Given the description of an element on the screen output the (x, y) to click on. 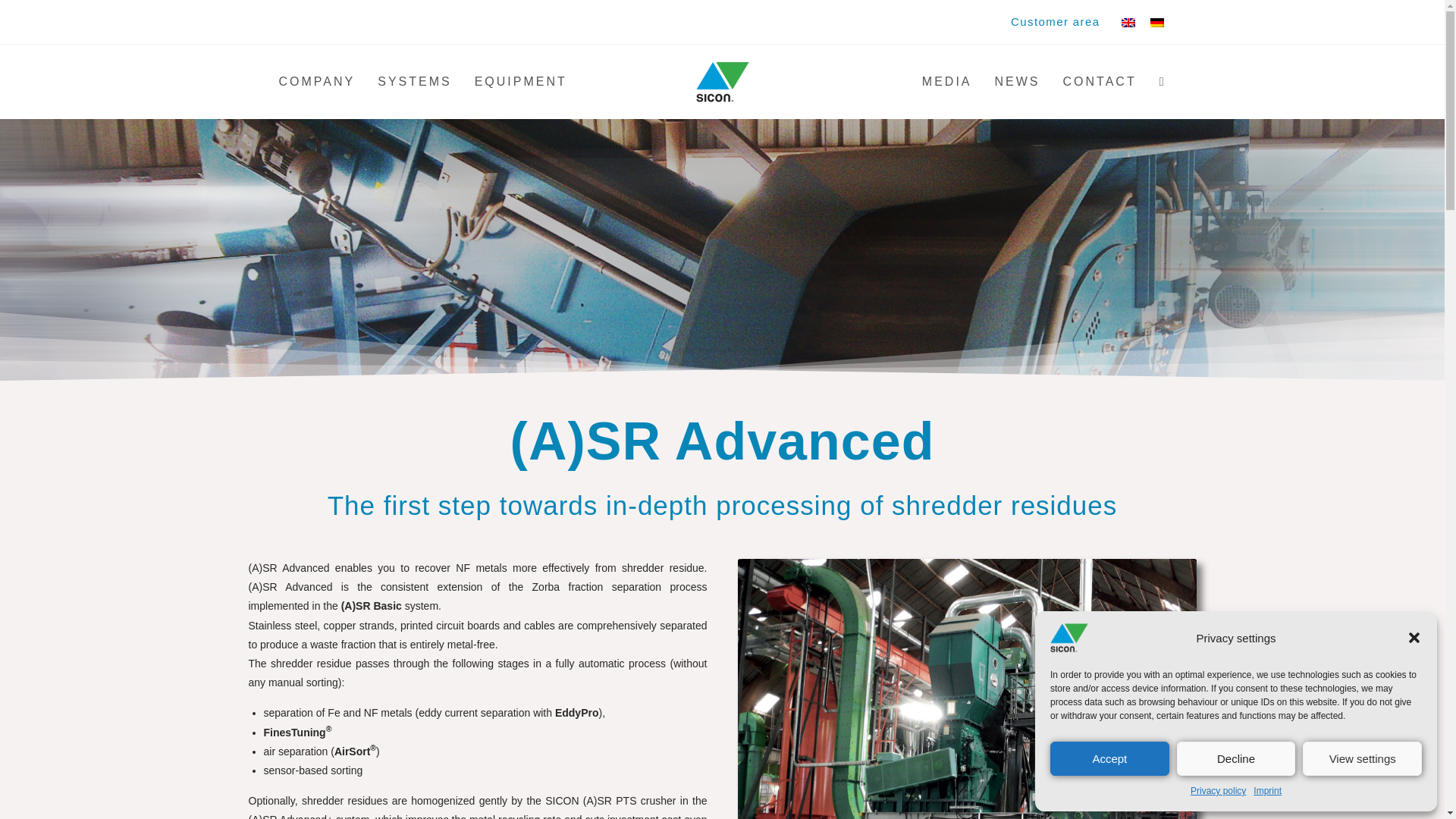
COMPANY (316, 81)
Imprint (1267, 791)
Customer area (1054, 22)
Accept (1109, 758)
Privacy policy (1218, 791)
SYSTEMS (414, 81)
Decline (1235, 758)
Customer area (1054, 22)
View settings (1362, 758)
